Given the description of an element on the screen output the (x, y) to click on. 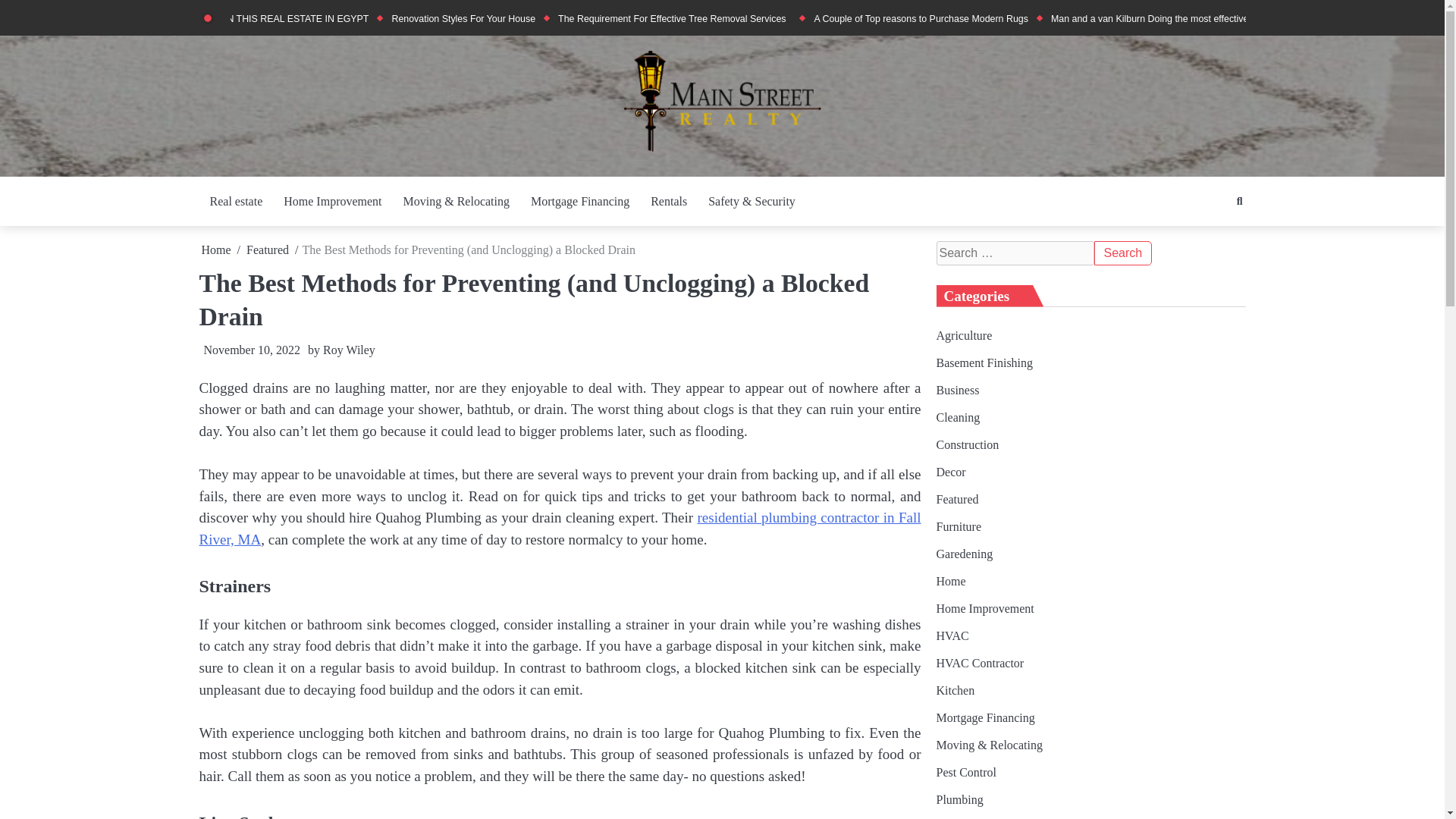
A Couple of Top reasons to Purchase Modern Rugs (920, 18)
WHY YOU NEED TO INVEST IN THIS REAL ESTATE IN EGYPT (233, 18)
Business (957, 390)
Basement Finishing (984, 362)
Real estate (235, 201)
Home Improvement (332, 201)
Cleaning (957, 417)
The Requirement For Effective Tree Removal Services   (673, 18)
Agriculture (963, 335)
Home (216, 249)
